Given the description of an element on the screen output the (x, y) to click on. 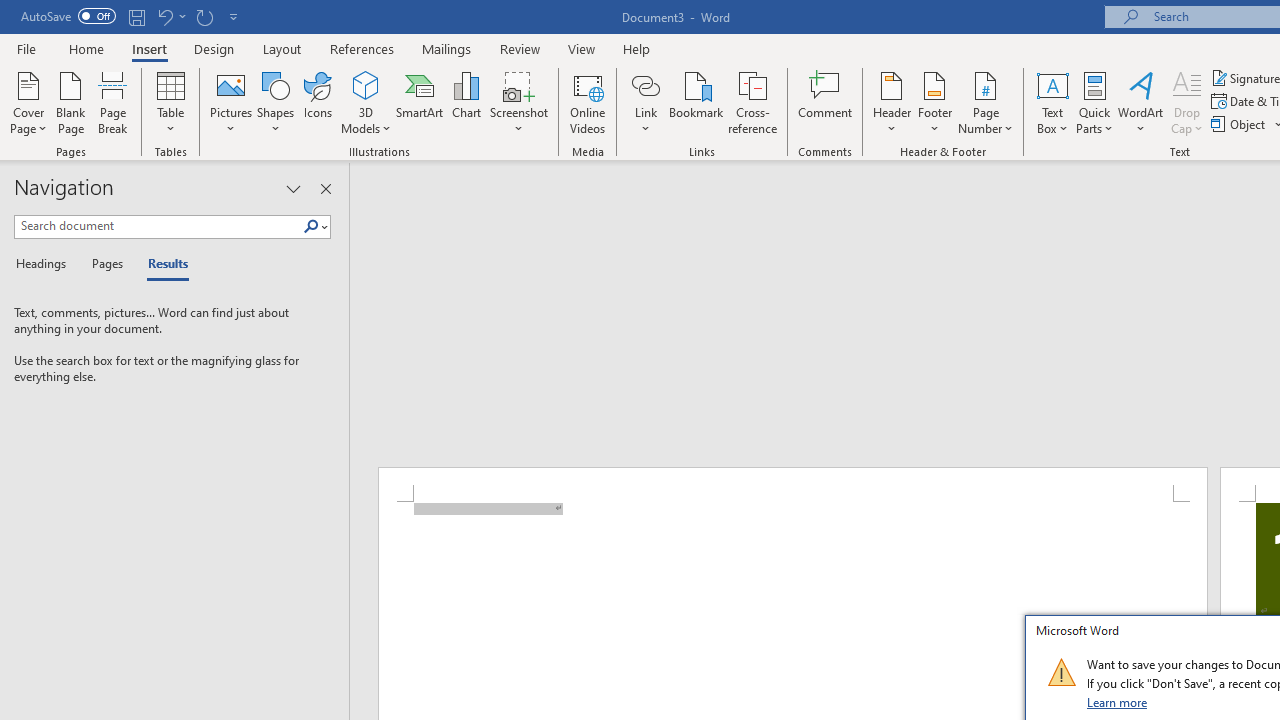
WordArt (1141, 102)
Link (645, 102)
Bookmark... (695, 102)
SmartArt... (419, 102)
Page Number (986, 102)
Shapes (275, 102)
